Given the description of an element on the screen output the (x, y) to click on. 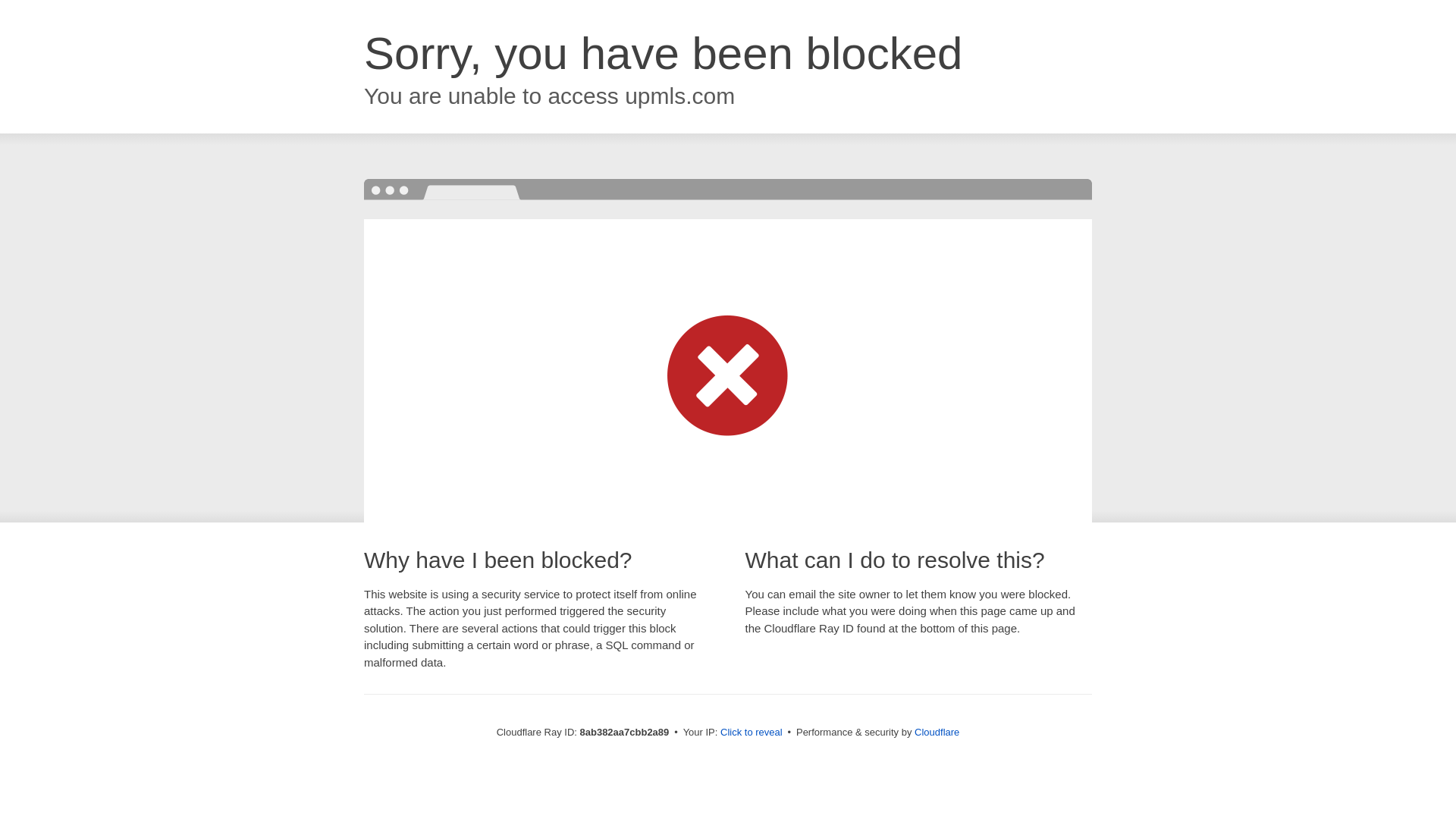
Click to reveal (751, 732)
Cloudflare (936, 731)
